Given the description of an element on the screen output the (x, y) to click on. 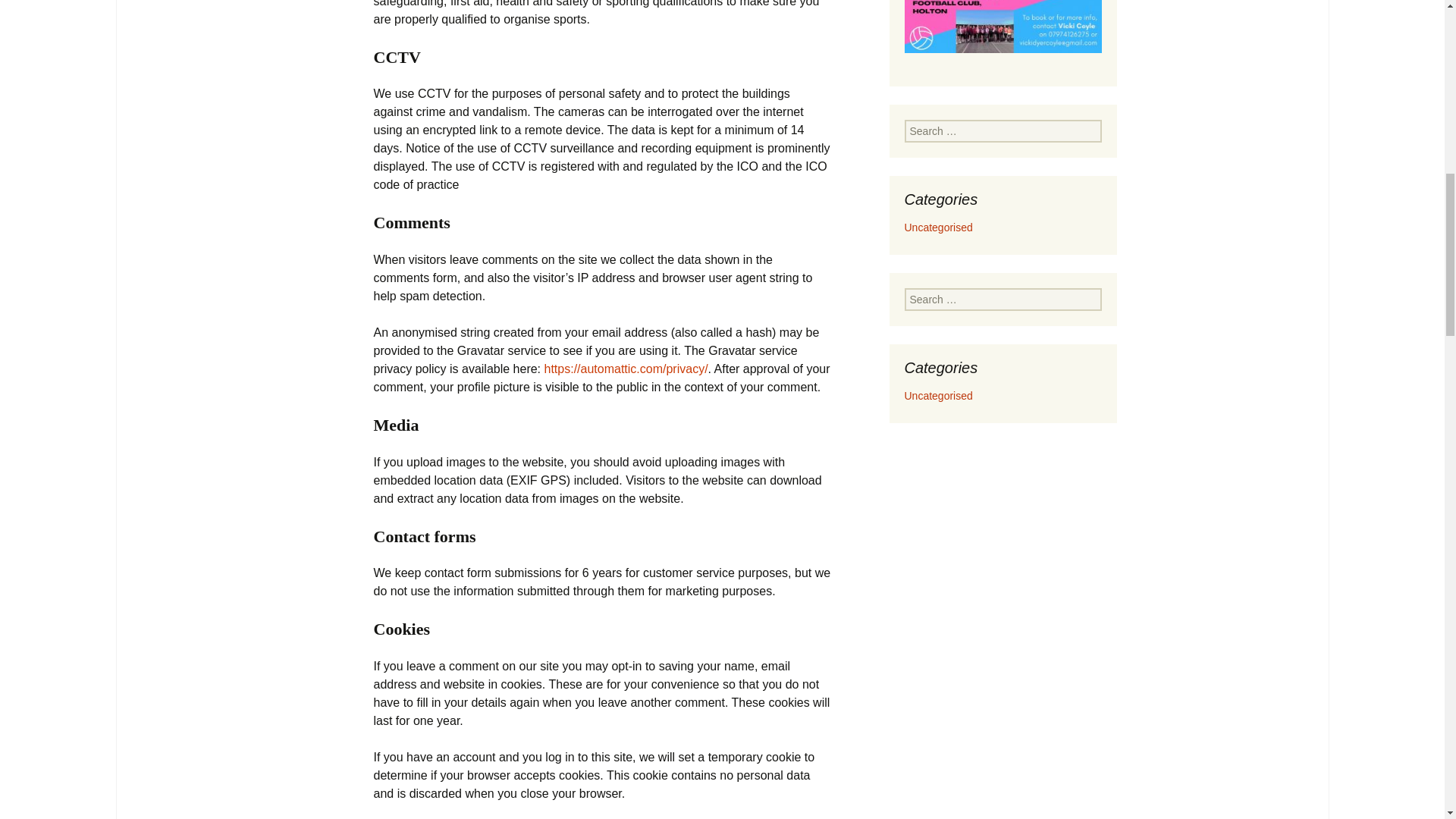
Uncategorised (938, 395)
Uncategorised (938, 227)
